Given the description of an element on the screen output the (x, y) to click on. 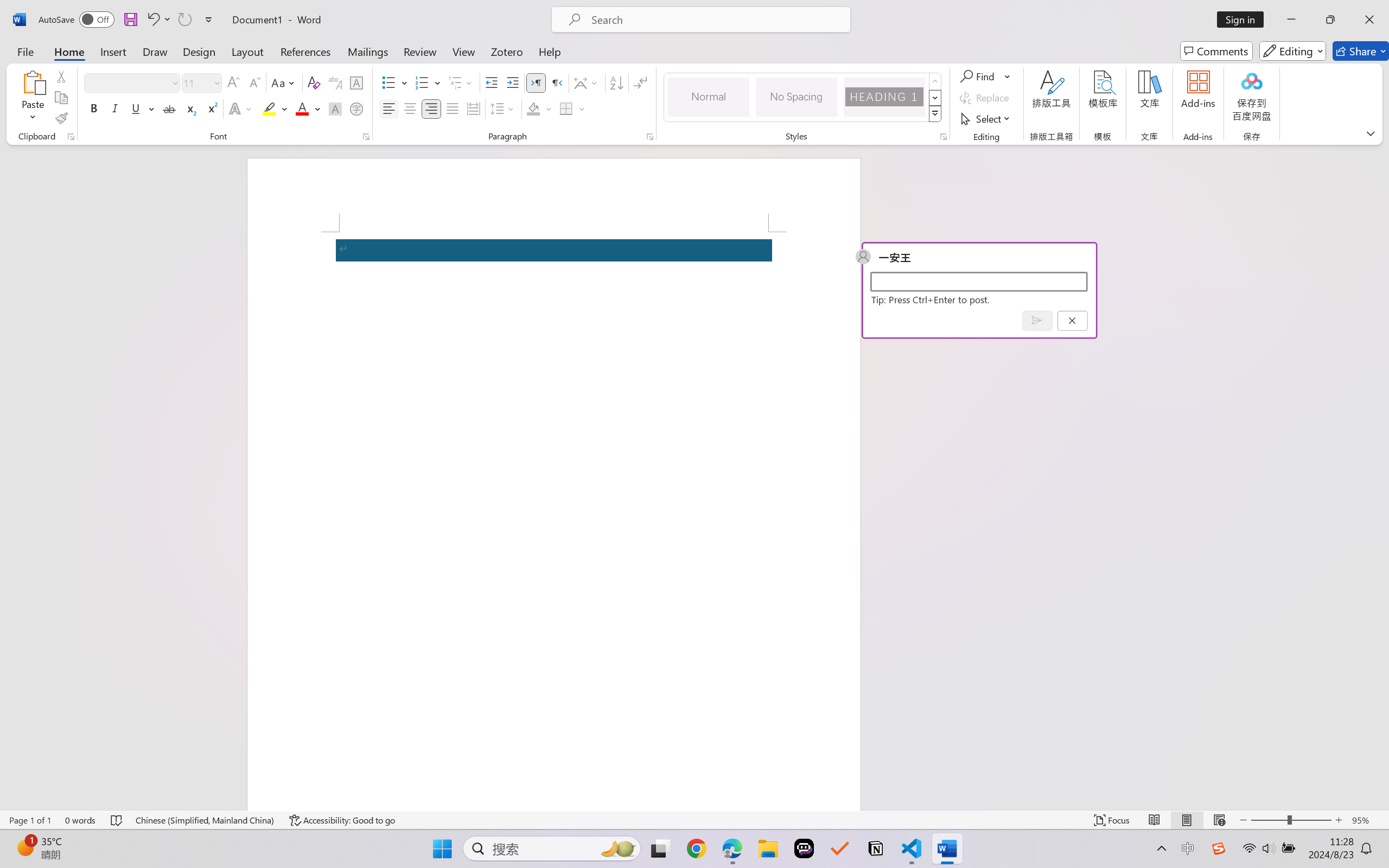
Undo (152, 19)
Repeat TCSCTranslate (184, 19)
